Given the description of an element on the screen output the (x, y) to click on. 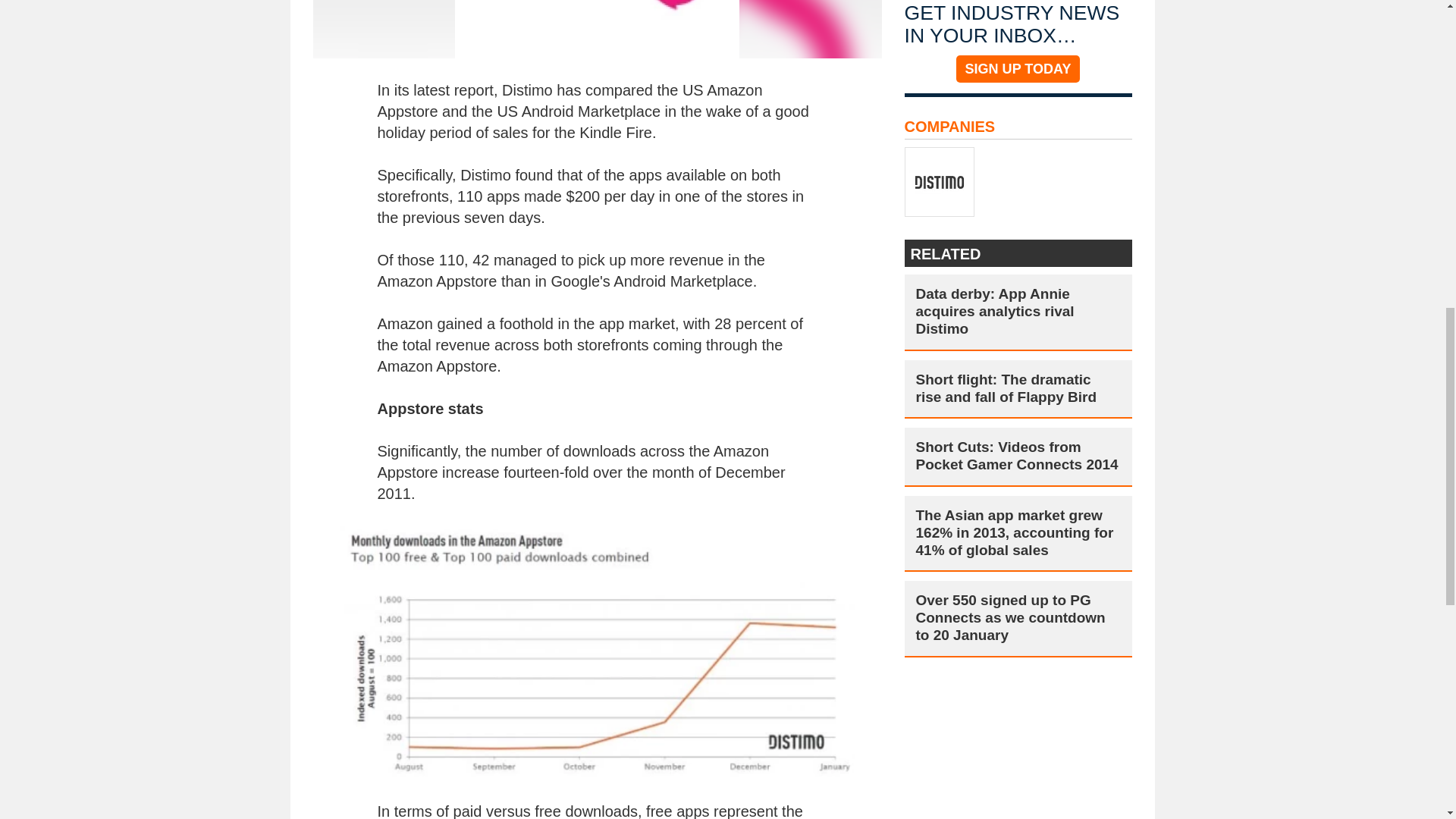
Data derby: App Annie acquires analytics rival Distimo (1017, 311)
Short flight: The dramatic rise and fall of Flappy Bird (1017, 388)
Short Cuts: Videos from Pocket Gamer Connects 2014 (1017, 456)
